Given the description of an element on the screen output the (x, y) to click on. 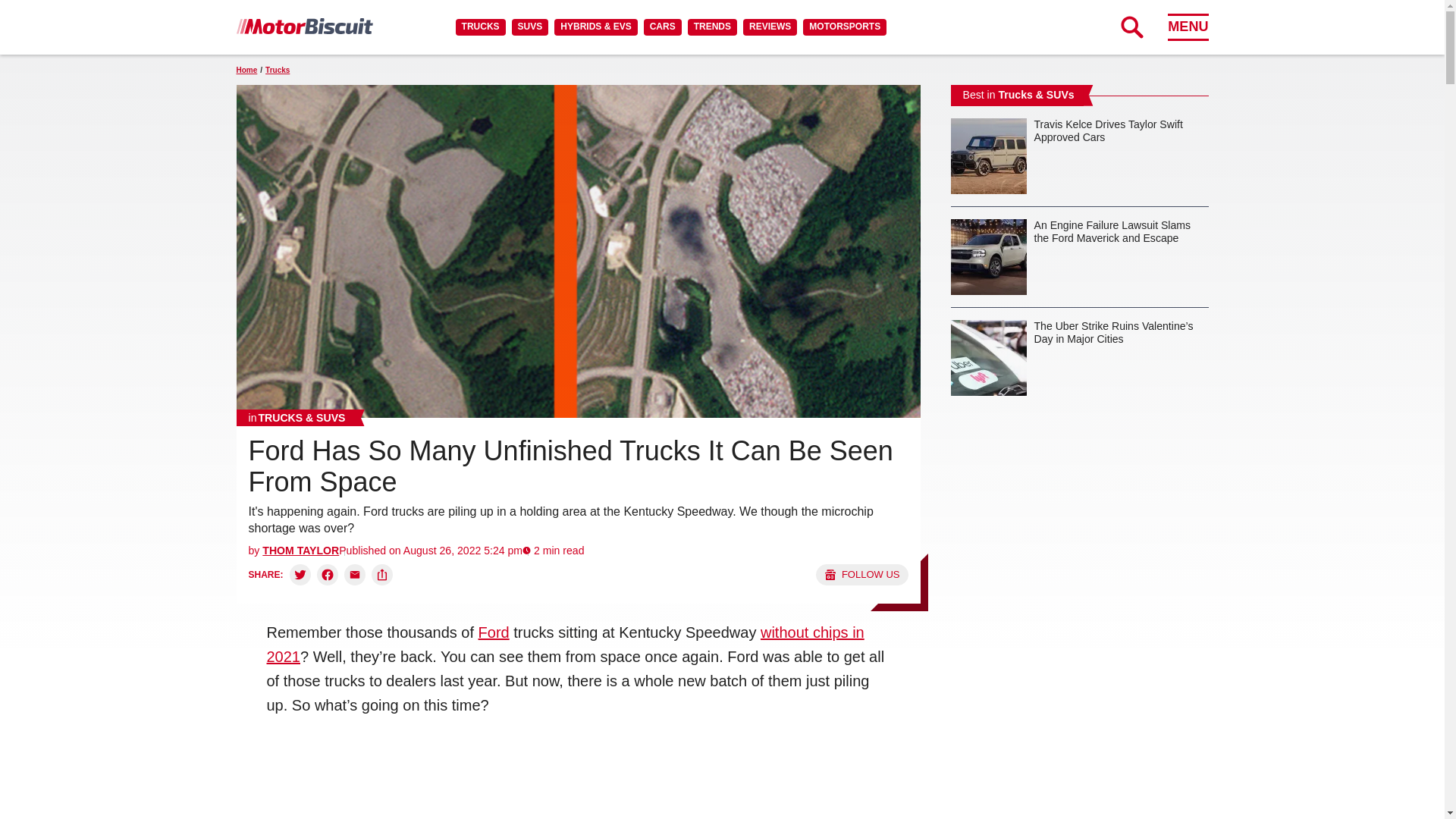
TRENDS (711, 26)
REVIEWS (769, 26)
Copy link and share:  (382, 574)
TRUCKS (480, 26)
MOTORSPORTS (844, 26)
SUVS (530, 26)
Expand Search (1131, 26)
CARS (662, 26)
MotorBiscuit (303, 26)
